Given the description of an element on the screen output the (x, y) to click on. 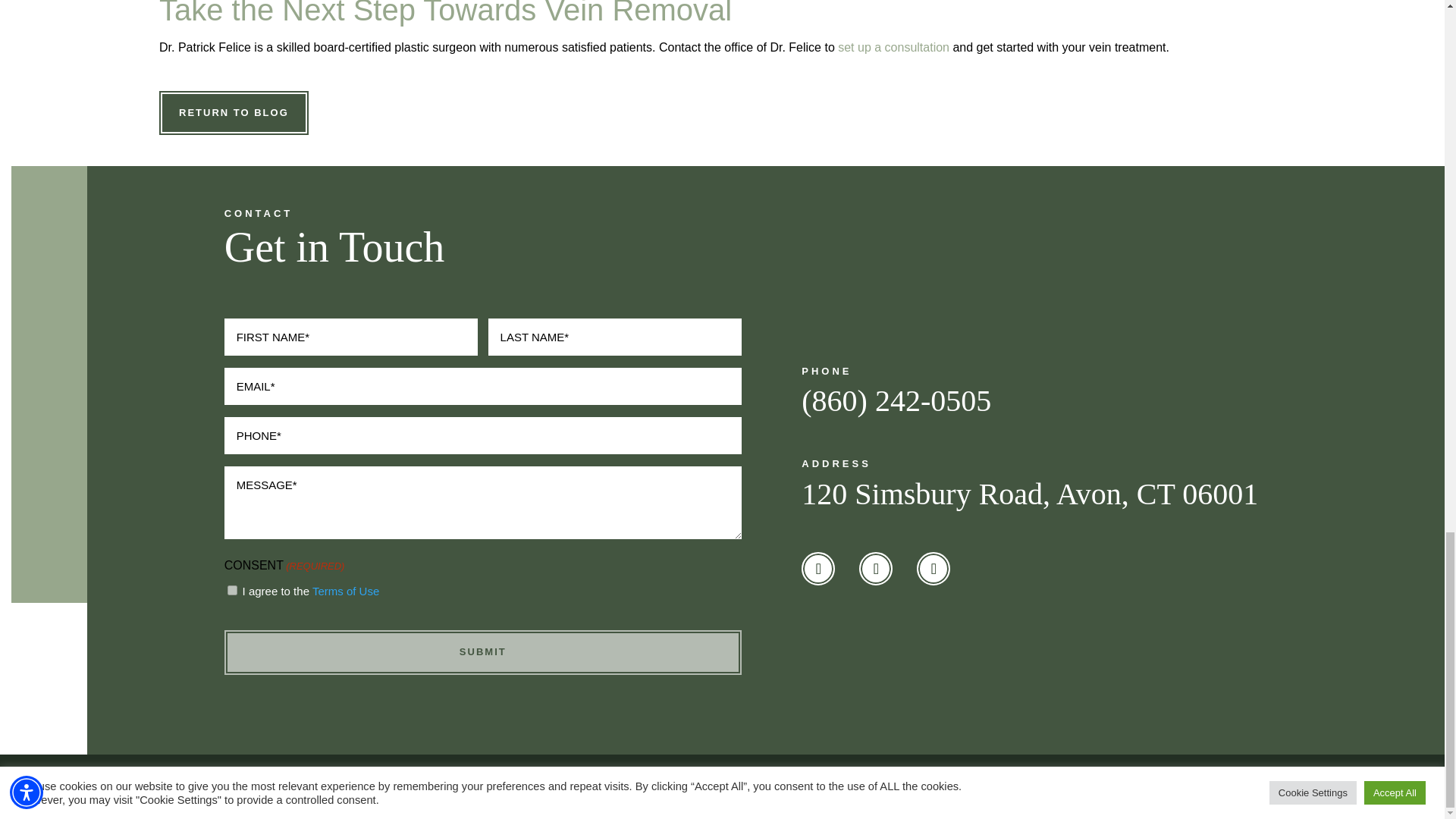
Submit (482, 651)
Follow on Facebook (818, 568)
Follow on Instagram (933, 568)
Follow on Twitter (875, 568)
